Given the description of an element on the screen output the (x, y) to click on. 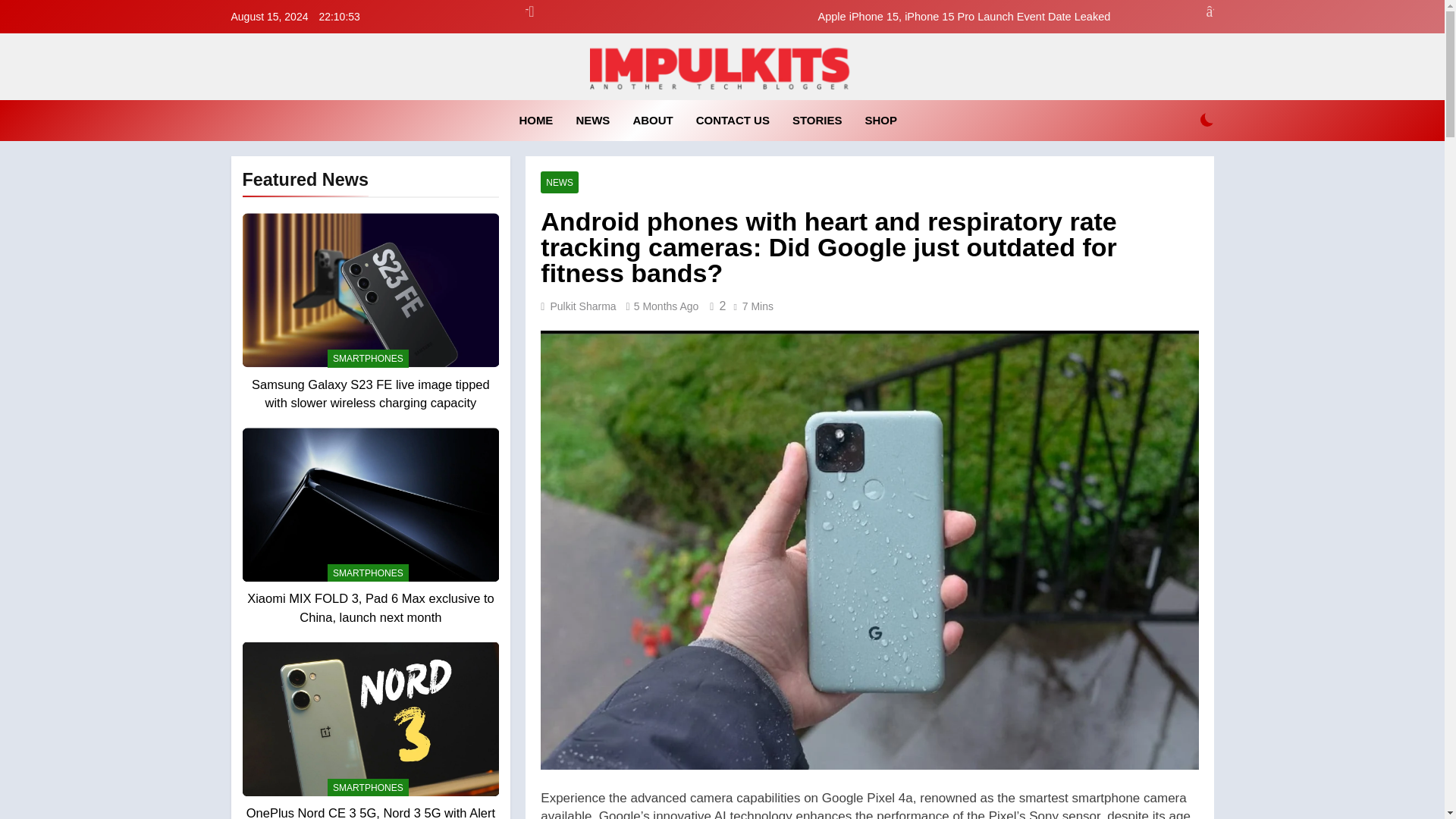
SHOP (880, 119)
CONTACT US (732, 119)
SMARTPHONES (368, 572)
on (1206, 119)
STORIES (816, 119)
SMARTPHONES (368, 357)
NEWS (592, 119)
